Given the description of an element on the screen output the (x, y) to click on. 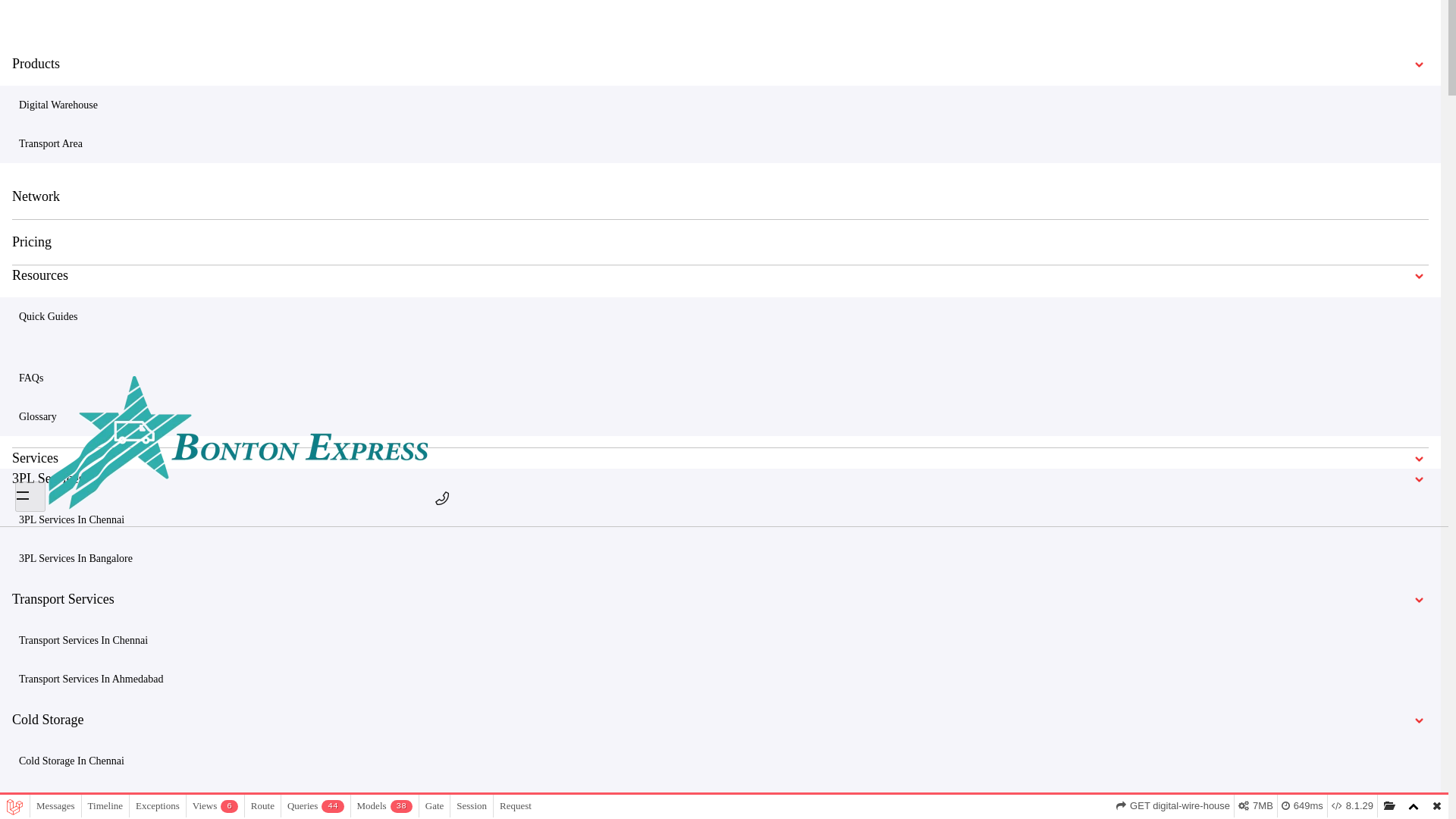
Get Started (65, 343)
Products (26, 212)
Network (19, 244)
Services (26, 276)
Resources (30, 309)
Pricing (719, 242)
Pricing (16, 260)
Network (719, 196)
